Given the description of an element on the screen output the (x, y) to click on. 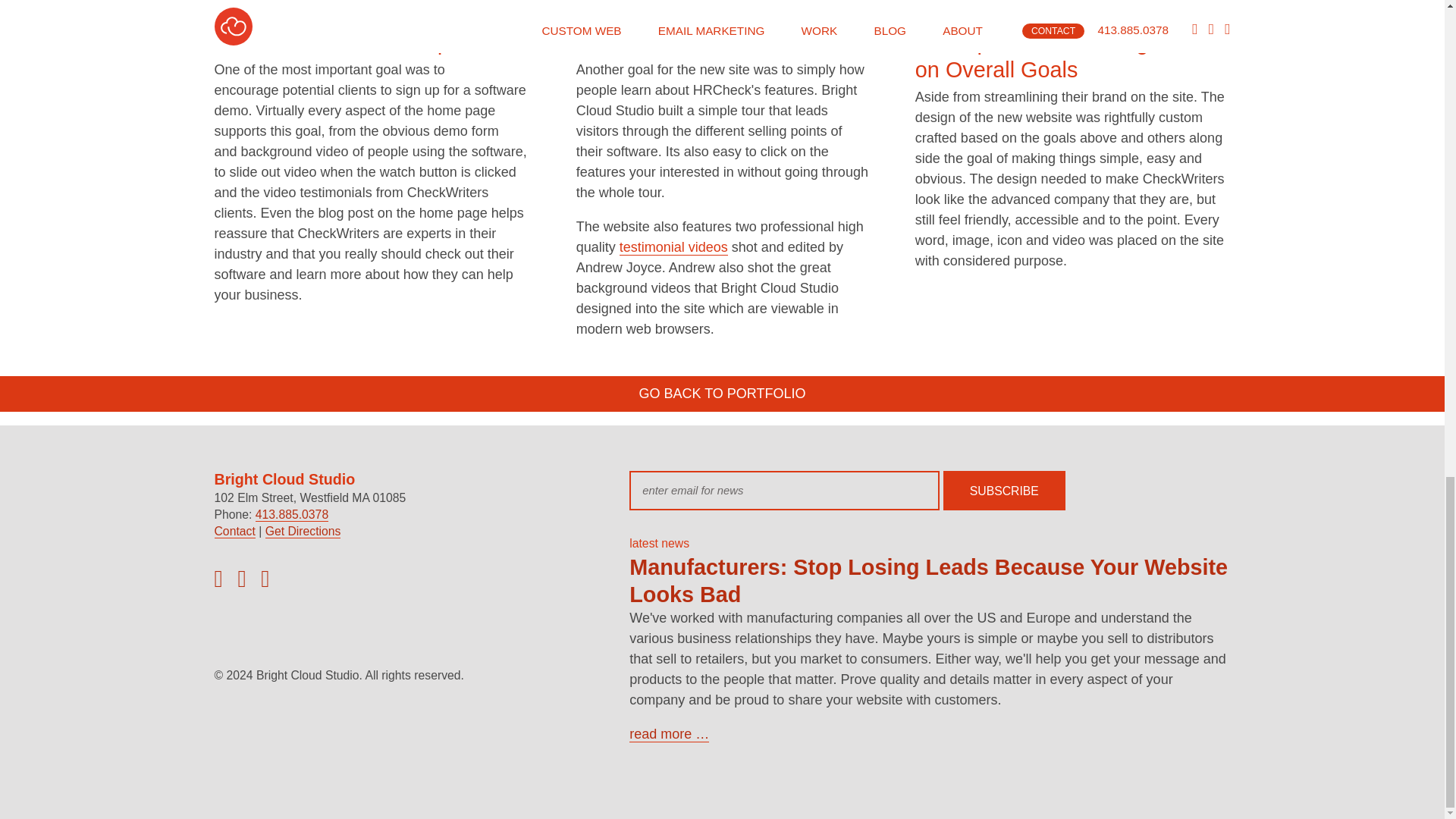
Get Directions (302, 531)
Subscribe (1004, 490)
Contact (234, 531)
testimonial videos (674, 247)
Subscribe (1004, 490)
413.885.0378 (292, 514)
